Given the description of an element on the screen output the (x, y) to click on. 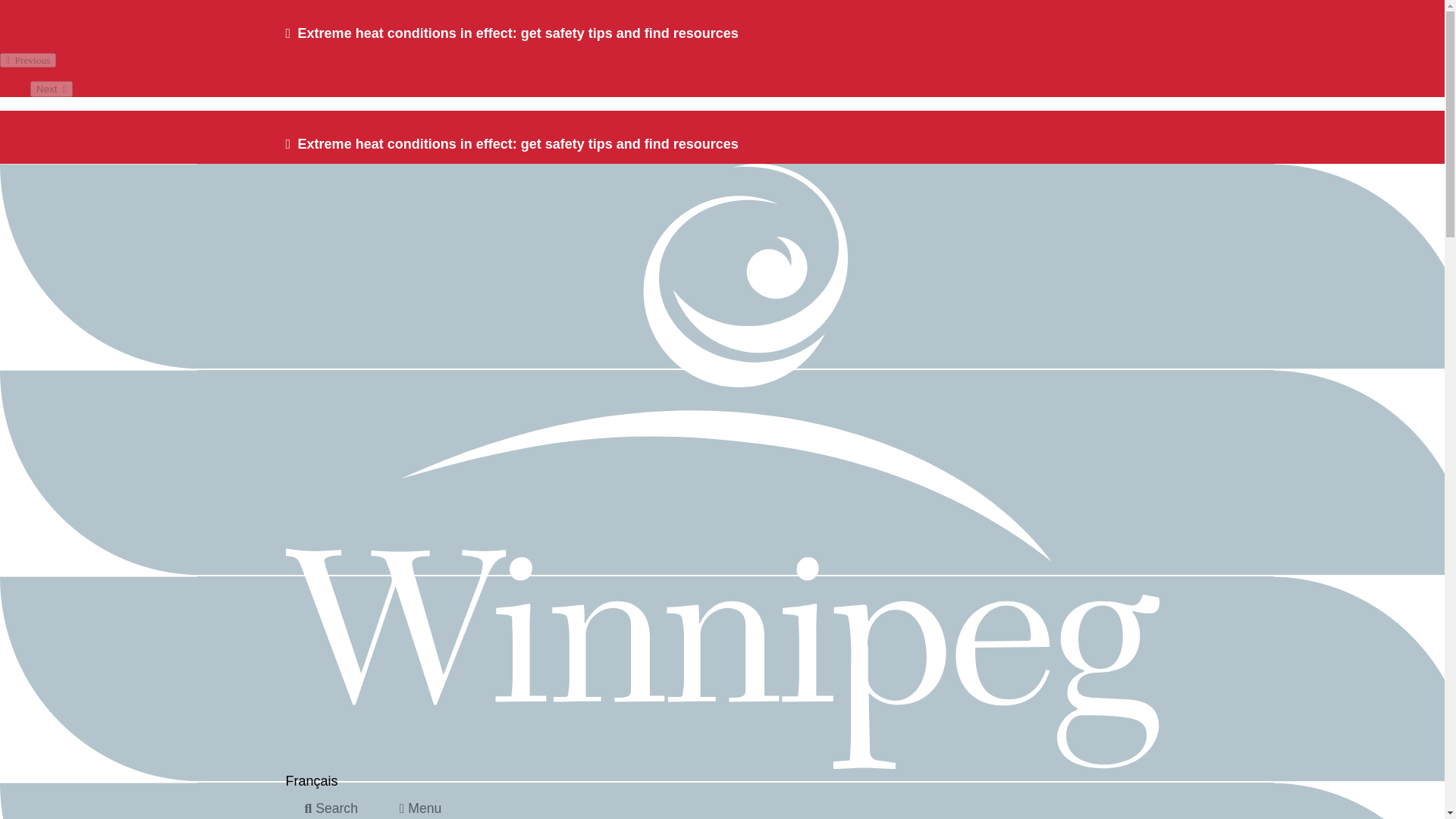
Next   (51, 89)
Search (330, 805)
Home (721, 764)
  Previous (28, 60)
Menu (420, 805)
